Given the description of an element on the screen output the (x, y) to click on. 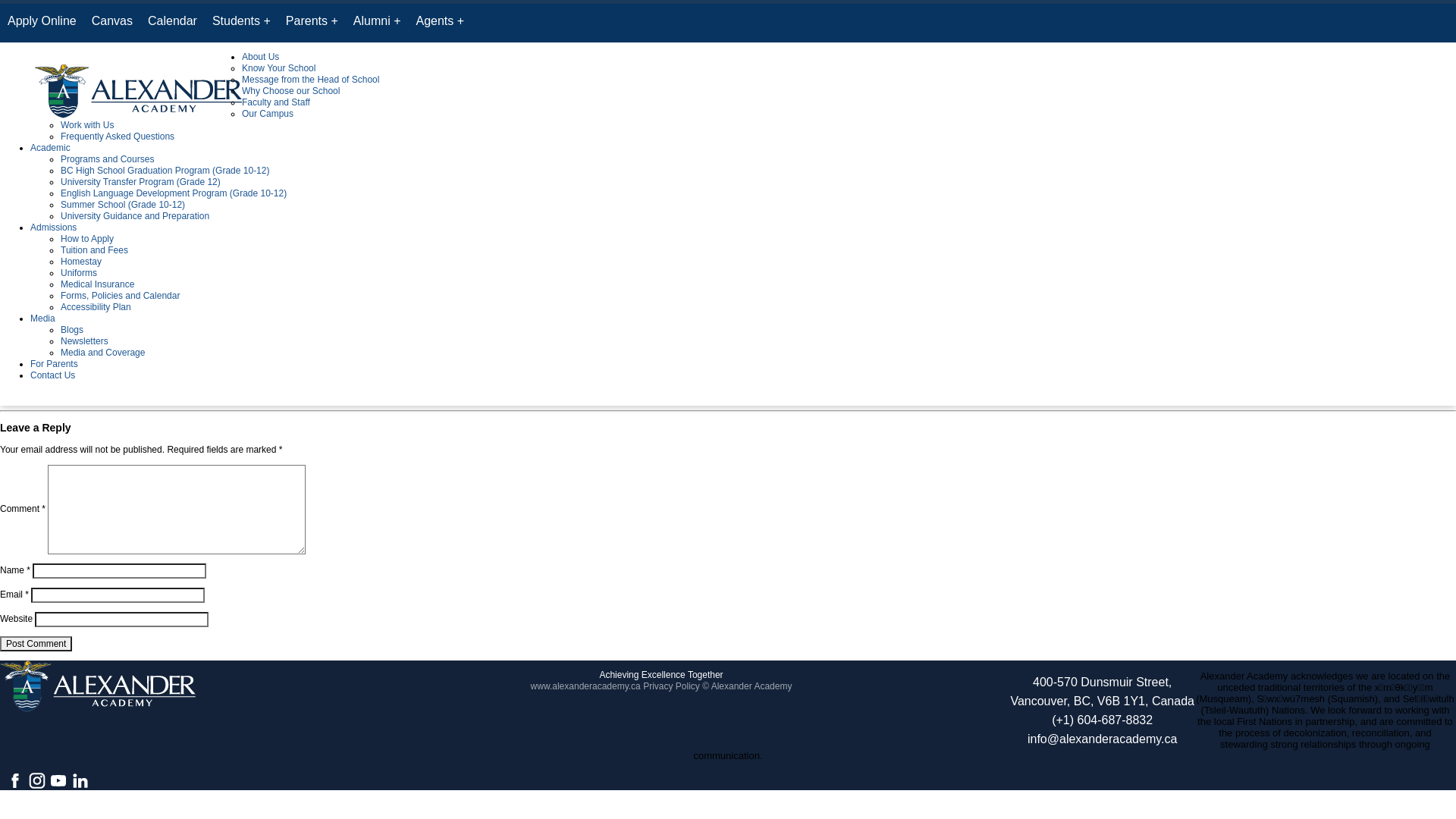
Agents Element type: text (439, 22)
BC High School Graduation Program (Grade 10-12) Element type: text (164, 170)
Media Element type: text (42, 318)
Our Campus Element type: text (267, 113)
Contact Us Element type: text (52, 375)
Summer School (Grade 10-12) Element type: text (122, 204)
Medical Insurance Element type: text (97, 284)
About Us Element type: text (260, 56)
University Transfer Program (Grade 12) Element type: text (140, 181)
For Parents Element type: text (54, 363)
Academic Element type: text (50, 147)
Work with Us Element type: text (86, 124)
Accessibility Plan Element type: text (95, 306)
Alumni Element type: text (376, 22)
Forms, Policies and Calendar Element type: text (119, 295)
Frequently Asked Questions Element type: text (117, 136)
How to Apply Element type: text (86, 238)
www.alexanderacademy.ca Element type: text (585, 685)
Admissions Element type: text (53, 227)
Post Comment Element type: text (36, 643)
Parents Element type: text (311, 22)
Know Your School Element type: text (278, 67)
Uniforms Element type: text (78, 272)
Homestay Element type: text (80, 261)
Programs and Courses Element type: text (106, 158)
Newsletters Element type: text (84, 340)
Message from the Head of School Element type: text (310, 79)
Blogs Element type: text (71, 329)
Tuition and Fees Element type: text (94, 249)
Media and Coverage Element type: text (102, 352)
Privacy Policy Element type: text (671, 685)
English Language Development Program (Grade 10-12) Element type: text (173, 193)
Calendar Element type: text (172, 22)
University Guidance and Preparation Element type: text (134, 215)
Apply Online Element type: text (42, 22)
Students Element type: text (241, 22)
Faculty and Staff Element type: text (275, 102)
Canvas Element type: text (112, 22)
Why Choose our School Element type: text (290, 90)
